Given the description of an element on the screen output the (x, y) to click on. 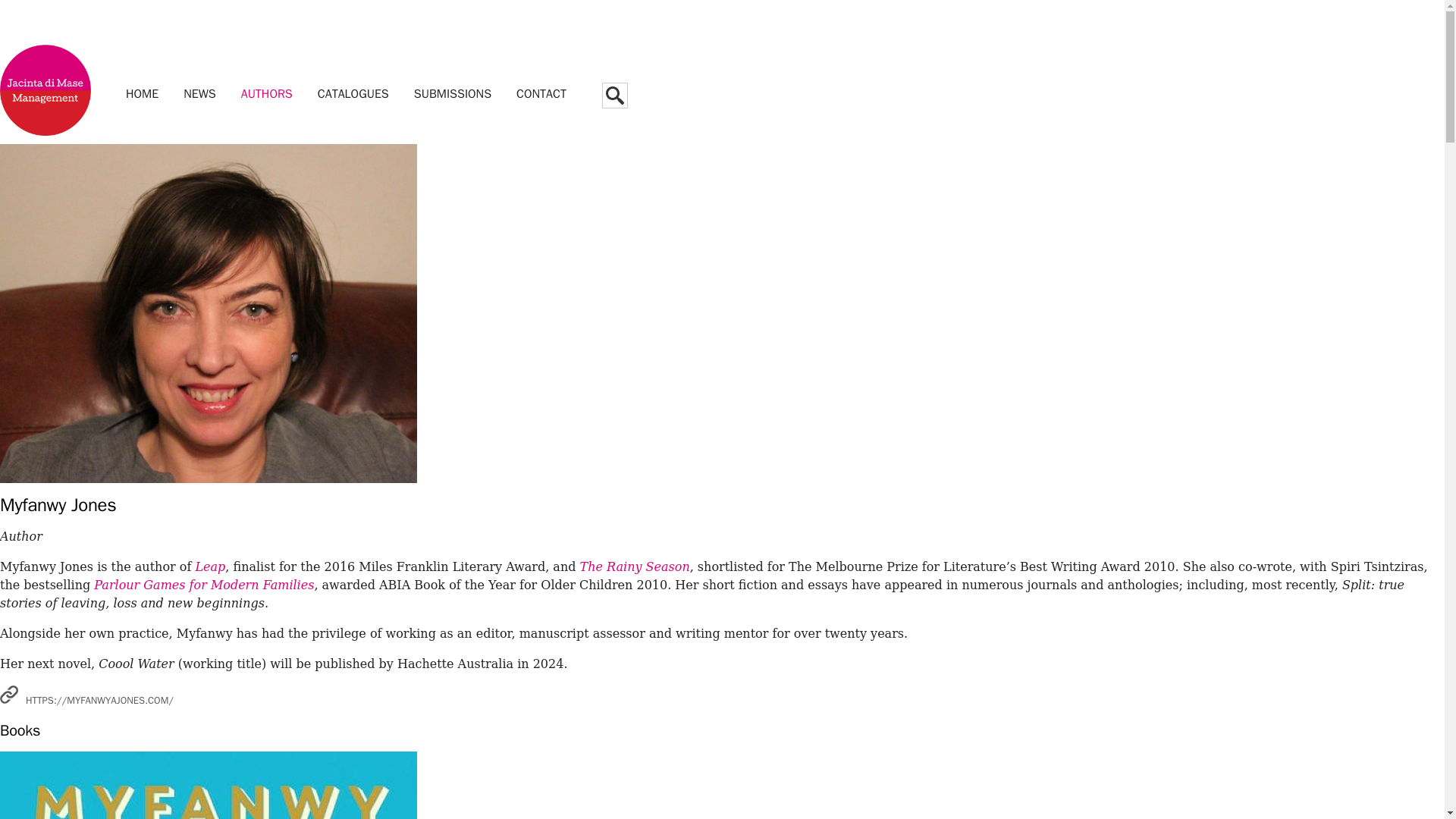
The Rainy Season (634, 566)
Leap (210, 566)
Parlour Games for Modern Families (204, 585)
HOME (141, 93)
AUTHORS (266, 93)
CONTACT (540, 93)
CATALOGUES (353, 93)
NEWS (199, 93)
SUBMISSIONS (452, 93)
